Given the description of an element on the screen output the (x, y) to click on. 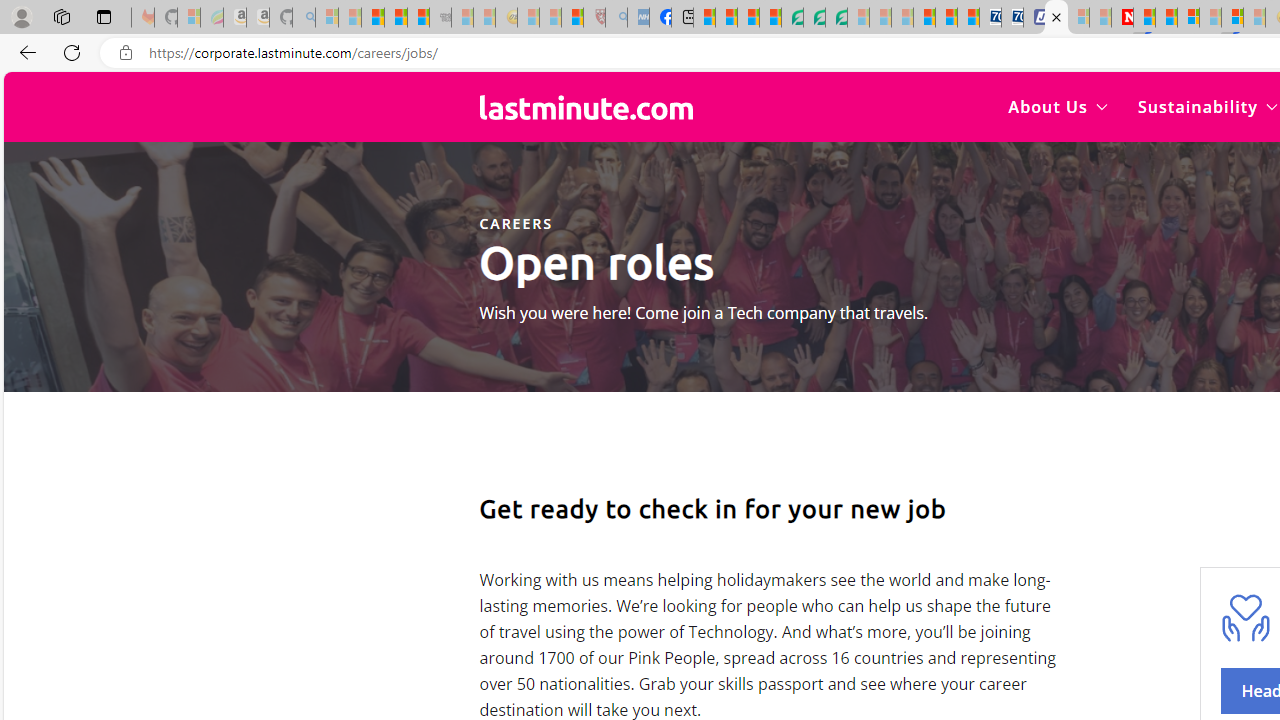
New tab (682, 17)
Local - MSN (571, 17)
Close tab (1056, 16)
LendingTree - Compare Lenders (792, 17)
View site information (125, 53)
Microsoft Word - consumer-privacy address update 2.2021 (836, 17)
Jobs - lastminute.com Investor Portal (1056, 17)
Back (24, 52)
Workspaces (61, 16)
Recipes - MSN - Sleeping (528, 17)
